Given the description of an element on the screen output the (x, y) to click on. 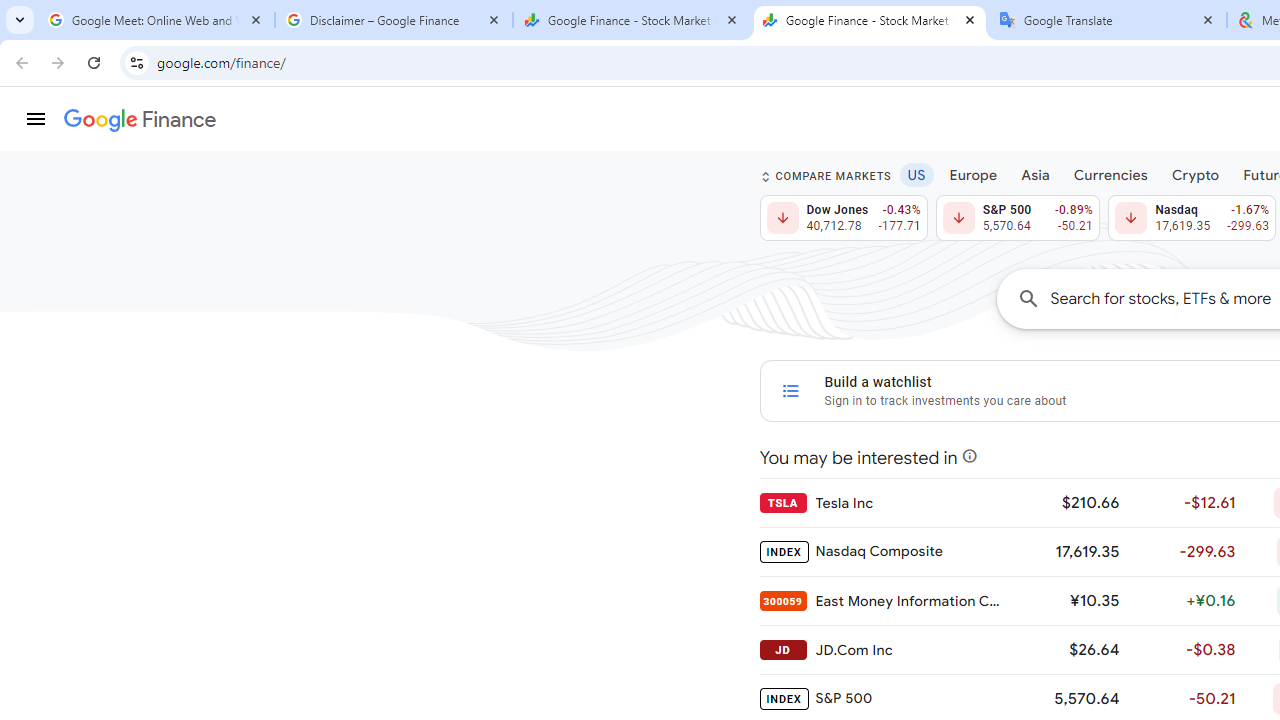
US (916, 174)
Finance (140, 120)
Google Translate (1108, 20)
COMPARE MARKETS (825, 176)
Currencies (1109, 174)
